Given the description of an element on the screen output the (x, y) to click on. 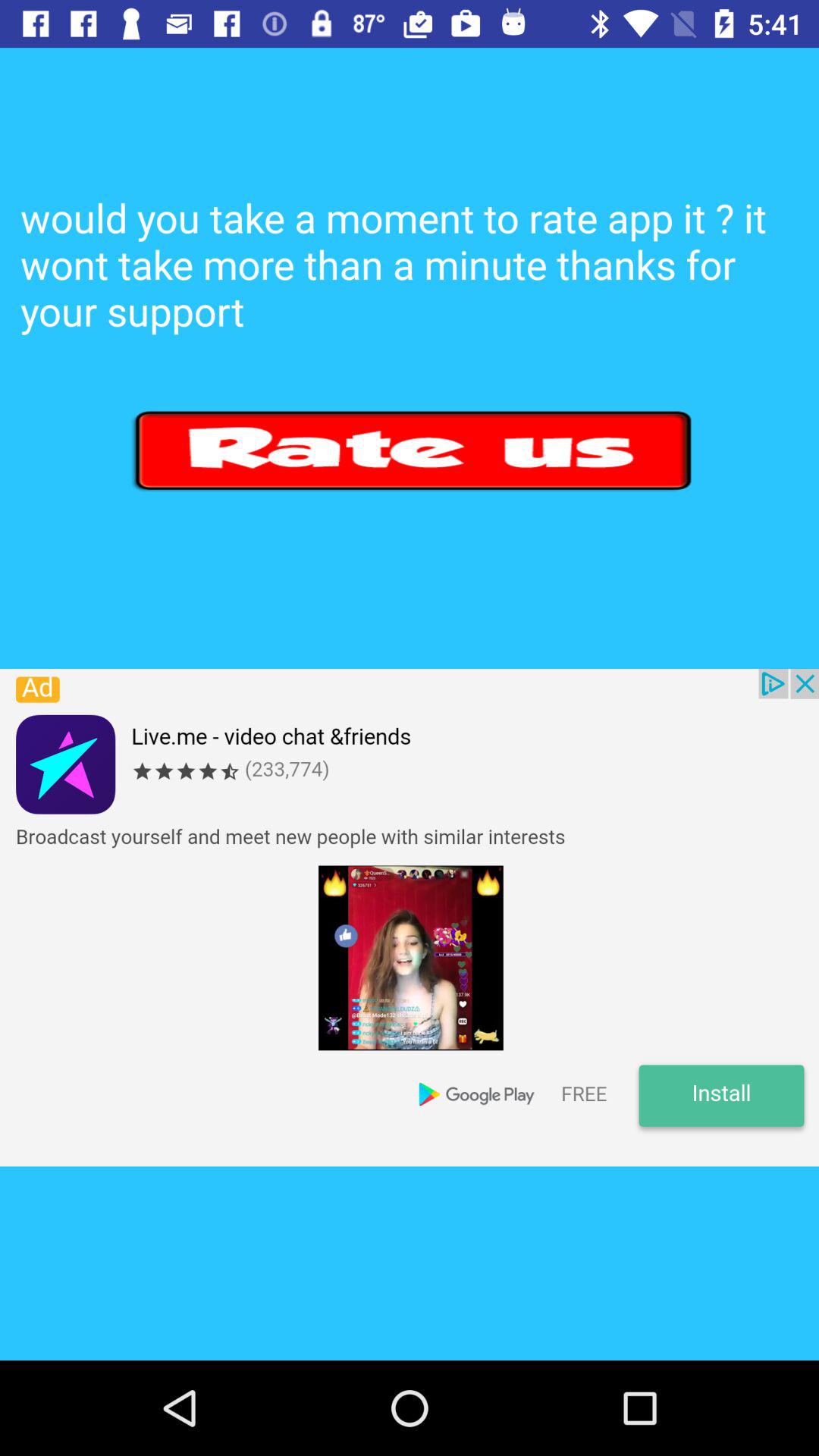
app (414, 450)
